Given the description of an element on the screen output the (x, y) to click on. 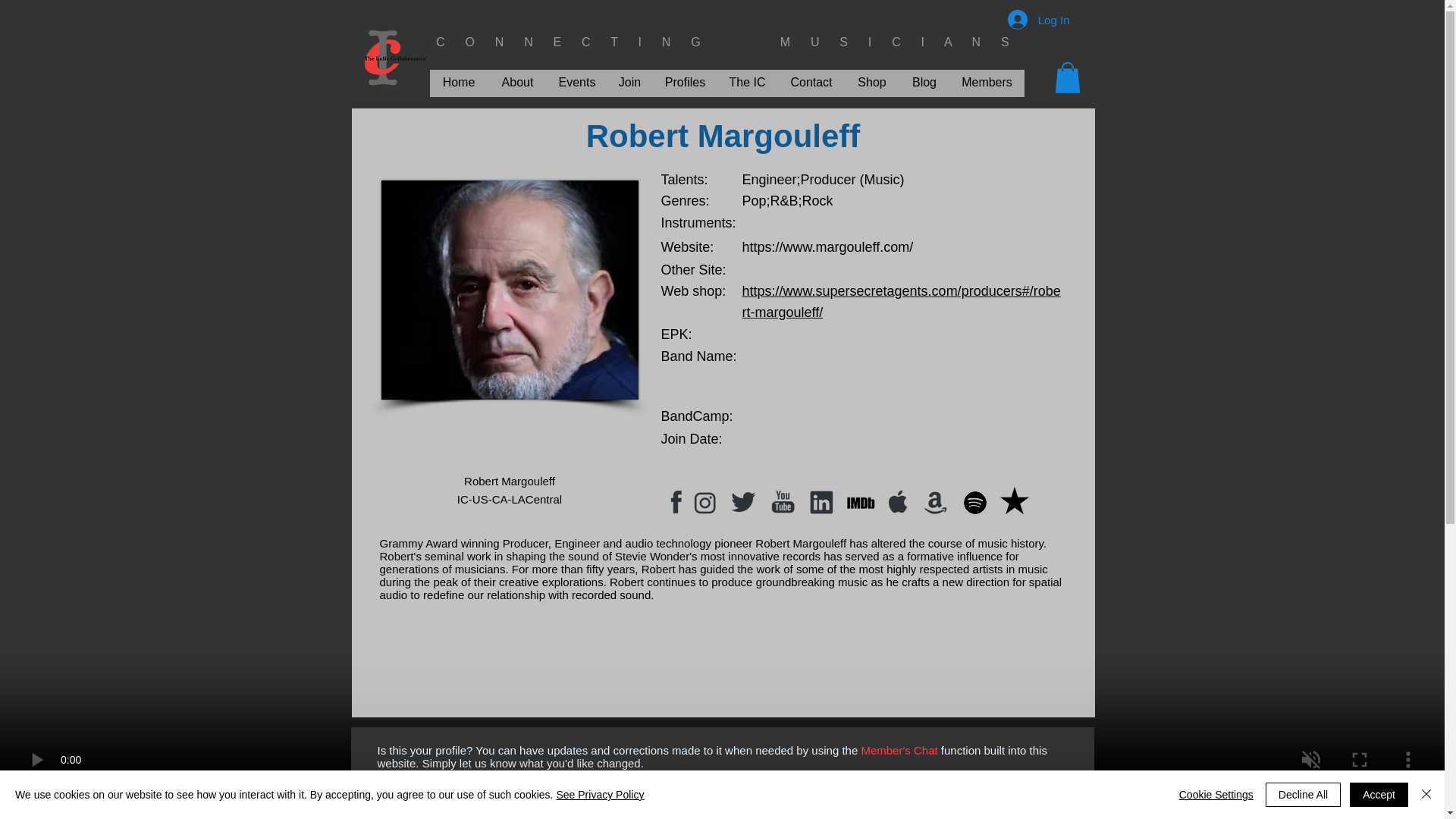
Events (577, 82)
Profiles (685, 82)
Join (630, 82)
About (517, 82)
Contact (811, 82)
Log In (1038, 19)
Members (986, 82)
Blog (924, 82)
Shop (871, 82)
Robert Margouleff (508, 289)
The IC (747, 82)
Home (458, 82)
